Given the description of an element on the screen output the (x, y) to click on. 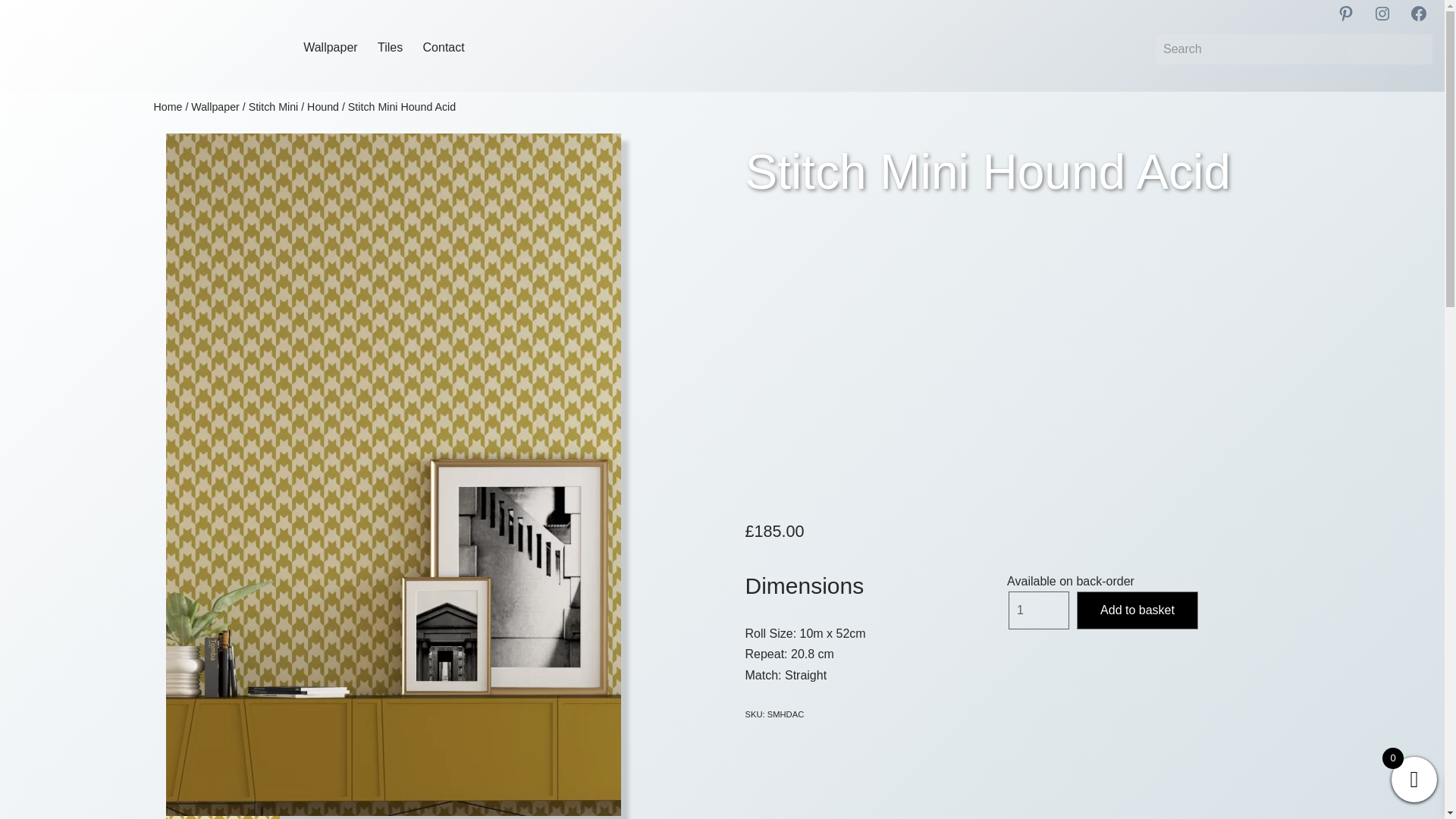
Wallpaper (215, 106)
Tiles (390, 48)
Wallpaper (331, 48)
Contact (443, 48)
Add to basket (1137, 609)
Hound (323, 106)
Stitch Mini (273, 106)
Stitch Mini Hound Acid (222, 817)
Instagram (1382, 13)
Pinterest (1345, 13)
